Given the description of an element on the screen output the (x, y) to click on. 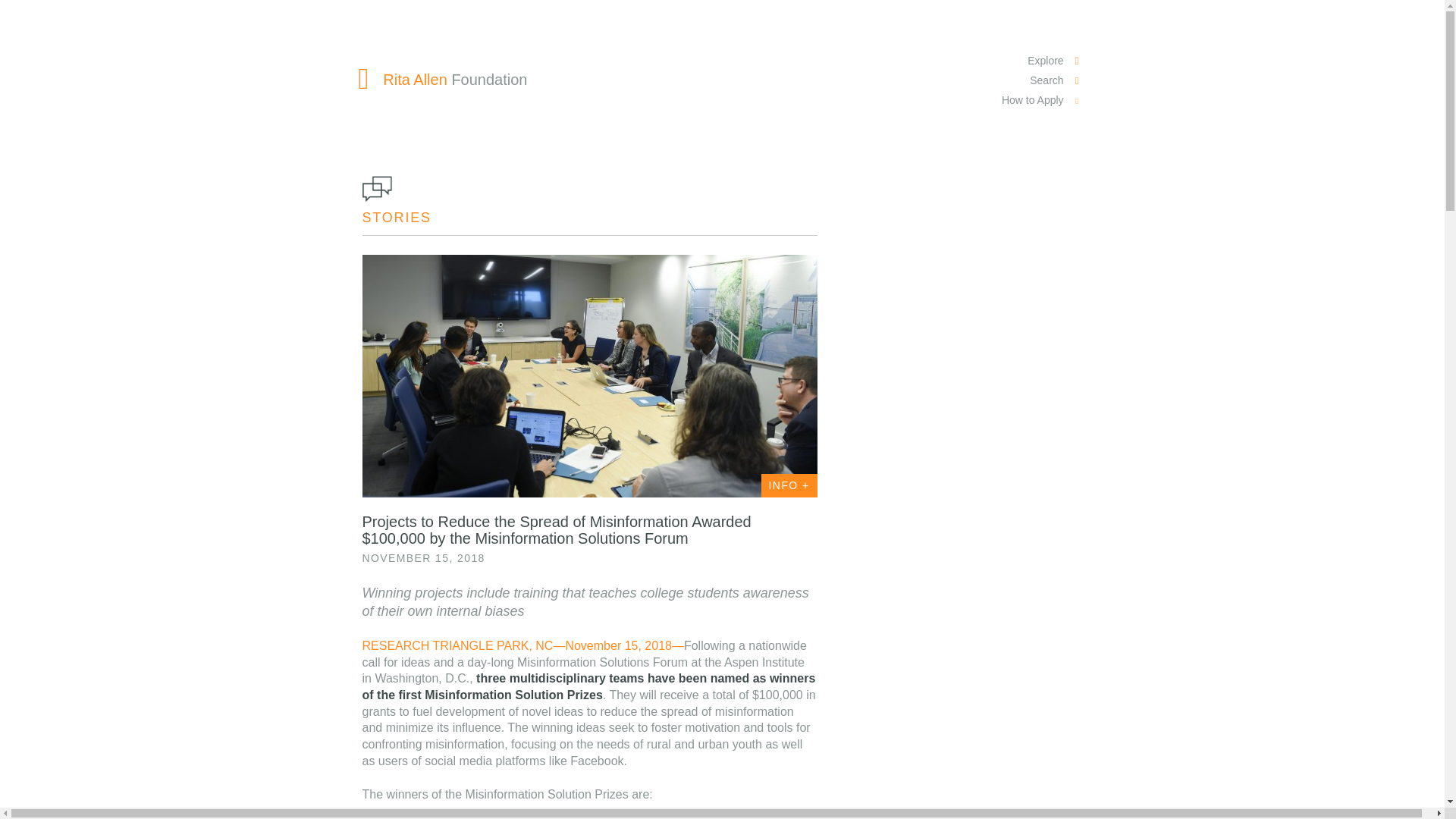
How to Apply (1042, 99)
Press Enter to Search (406, 115)
INFO (788, 485)
Explore (1042, 60)
Search (1042, 79)
STORIES (396, 217)
Rita Allen Foundation (442, 78)
